Given the description of an element on the screen output the (x, y) to click on. 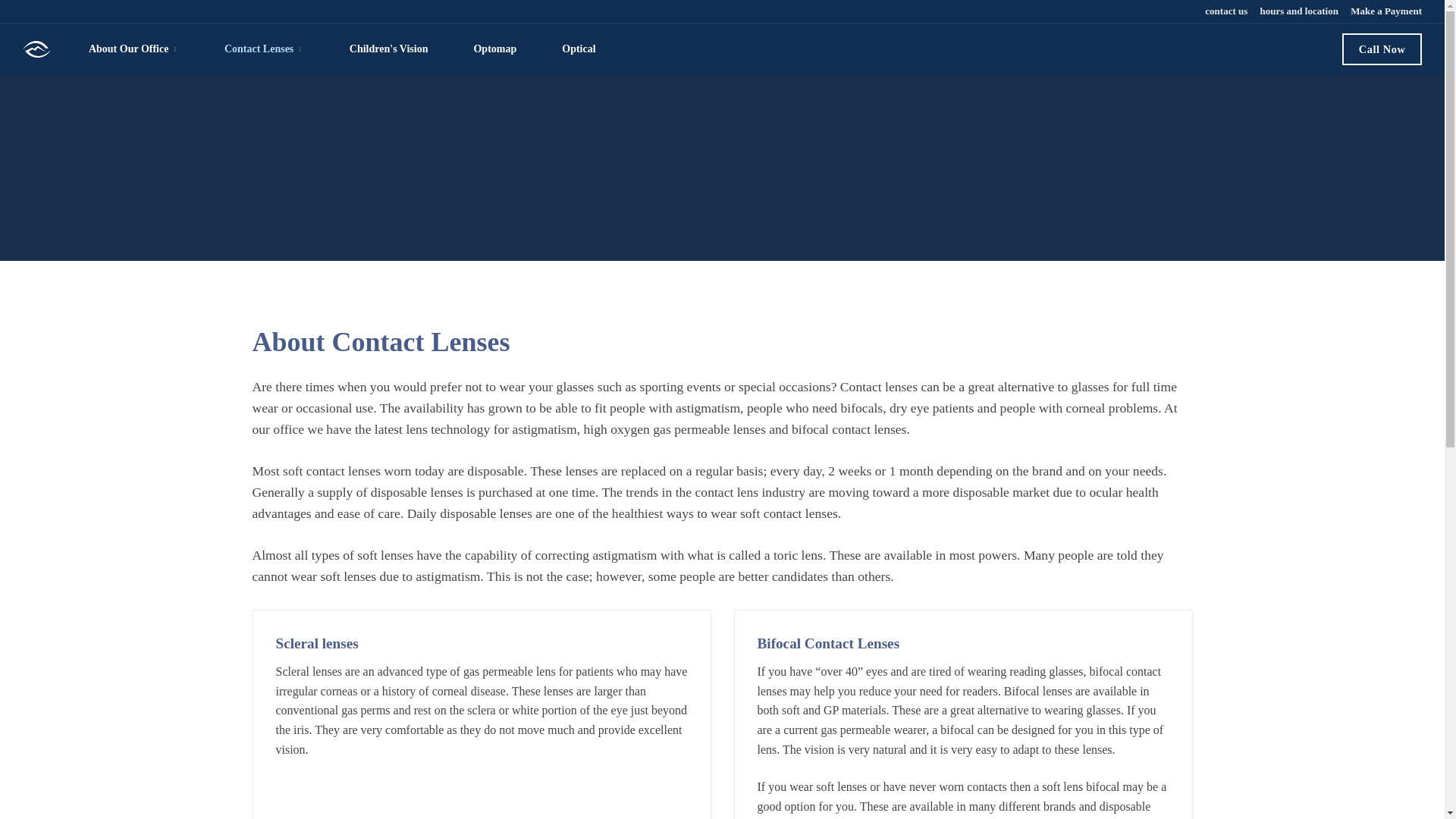
Make a Payment (1385, 11)
Optomap (493, 49)
Contact Lenses (264, 49)
Optical (577, 49)
hours and location (1297, 11)
contact us (1224, 11)
tel:303-828-1512 (1382, 48)
Call Now (1382, 48)
About Our Office (133, 49)
Children's Vision (388, 49)
